Given the description of an element on the screen output the (x, y) to click on. 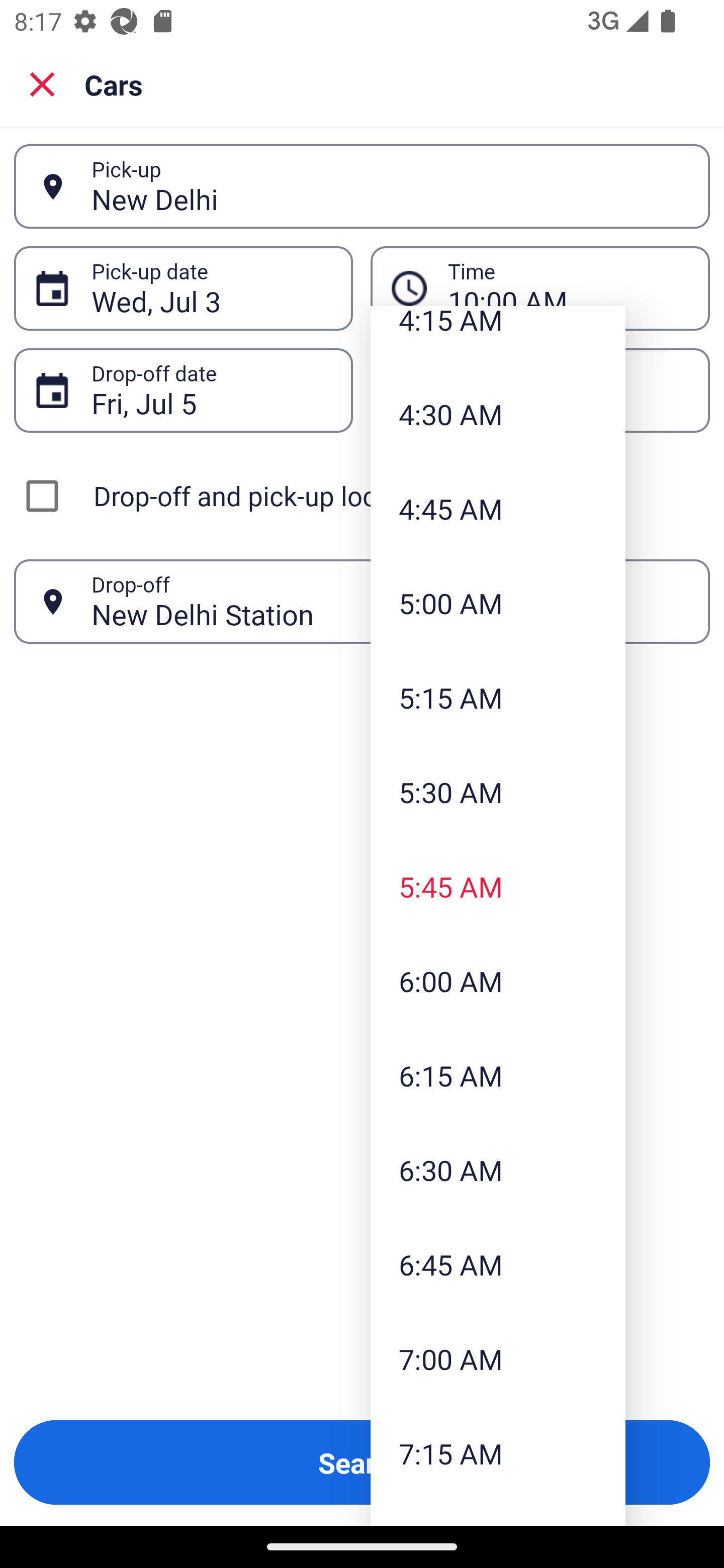
4:15 AM (497, 335)
4:30 AM (497, 413)
4:45 AM (497, 507)
5:00 AM (497, 602)
5:15 AM (497, 697)
5:30 AM (497, 791)
5:45 AM (497, 886)
6:00 AM (497, 981)
6:15 AM (497, 1075)
6:30 AM (497, 1169)
6:45 AM (497, 1264)
7:00 AM (497, 1359)
7:15 AM (497, 1453)
